Given the description of an element on the screen output the (x, y) to click on. 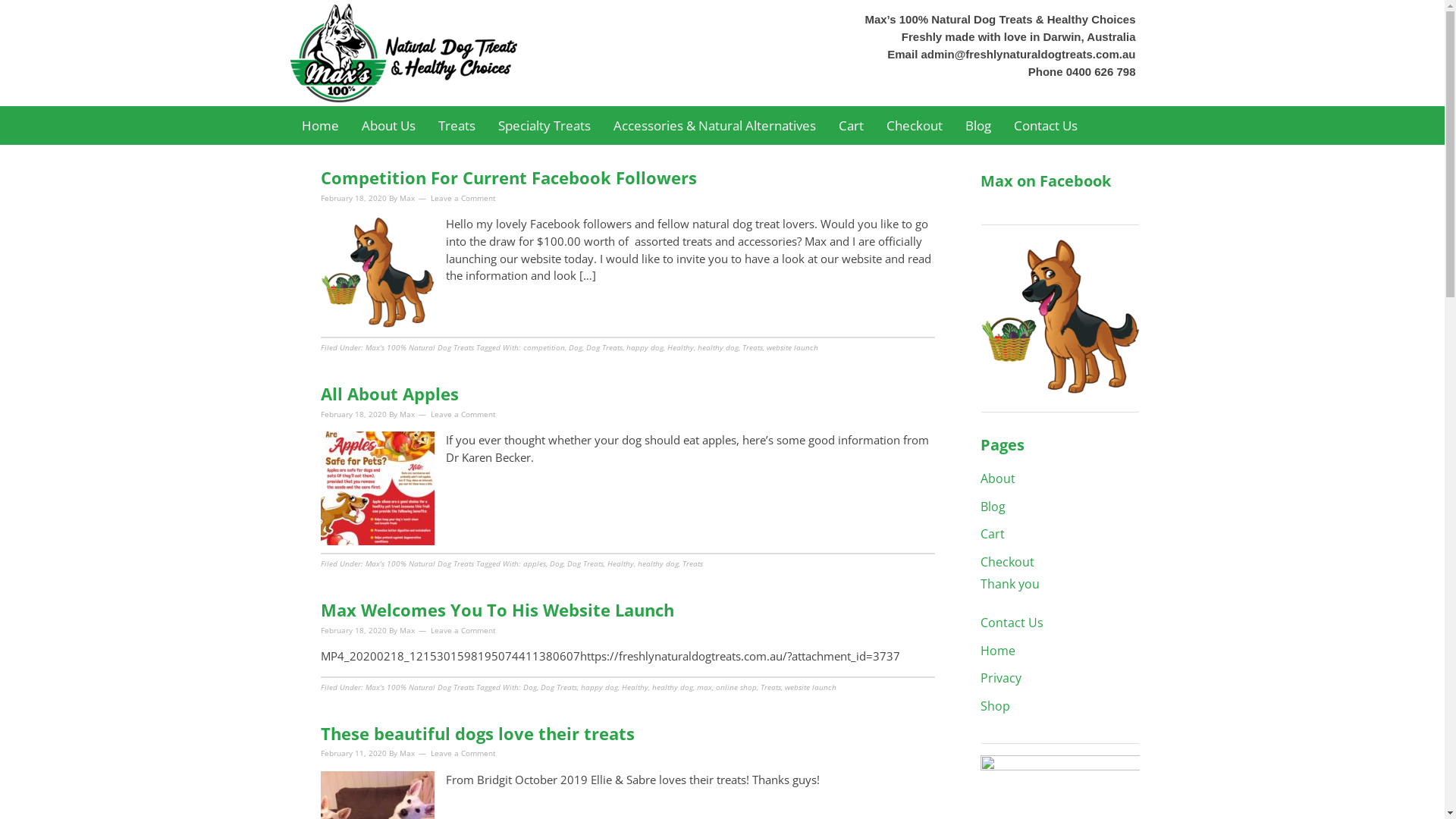
Dog Element type: text (555, 563)
Treats Element type: text (769, 686)
Shop Element type: text (994, 705)
apples Element type: text (534, 563)
All About Apples Element type: text (389, 393)
max Element type: text (703, 686)
Max's 100% Natural Dog Treats Element type: text (419, 686)
healthy dog Element type: text (672, 686)
Privacy Element type: text (999, 677)
healthy dog Element type: text (657, 563)
Healthy Element type: text (634, 686)
Accessories & Natural Alternatives Element type: text (714, 125)
Dog Treats Element type: text (585, 563)
Home Element type: text (996, 650)
Max's 100% Natural Dog Treats & Healthy Choices Element type: text (441, 53)
Thank you Element type: text (1008, 583)
About Us Element type: text (388, 125)
Treats Element type: text (751, 347)
Max's 100% Natural Dog Treats Element type: text (419, 347)
Max Welcomes You To His Website Launch Element type: text (496, 609)
Healthy Element type: text (680, 347)
Healthy Element type: text (619, 563)
Contact Us Element type: text (1010, 622)
Blog Element type: text (991, 506)
Cart Element type: text (850, 125)
website launch Element type: text (791, 347)
Leave a Comment Element type: text (462, 629)
About Element type: text (996, 478)
admin@freshlynaturaldogtreats.com.au Element type: text (1027, 53)
Treats Element type: text (692, 563)
Home Element type: text (319, 125)
Treats Element type: text (456, 125)
Dog Element type: text (529, 686)
Max Element type: text (406, 629)
happy dog Element type: text (599, 686)
competition Element type: text (543, 347)
Leave a Comment Element type: text (462, 412)
Leave a Comment Element type: text (462, 197)
Max Element type: text (406, 197)
Checkout Element type: text (1006, 561)
Contact Us Element type: text (1045, 125)
happy dog Element type: text (644, 347)
Blog Element type: text (977, 125)
Competition For Current Facebook Followers Element type: text (508, 177)
Max Element type: text (406, 412)
online shop Element type: text (735, 686)
These beautiful dogs love their treats Element type: text (476, 732)
website launch Element type: text (809, 686)
Checkout Element type: text (914, 125)
Dog Treats Element type: text (603, 347)
Max's 100% Natural Dog Treats Element type: text (419, 563)
Leave a Comment Element type: text (462, 752)
Max Element type: text (406, 752)
Specialty Treats Element type: text (544, 125)
Cart Element type: text (991, 533)
Dog Treats Element type: text (557, 686)
Dog Element type: text (575, 347)
healthy dog Element type: text (717, 347)
